Given the description of an element on the screen output the (x, y) to click on. 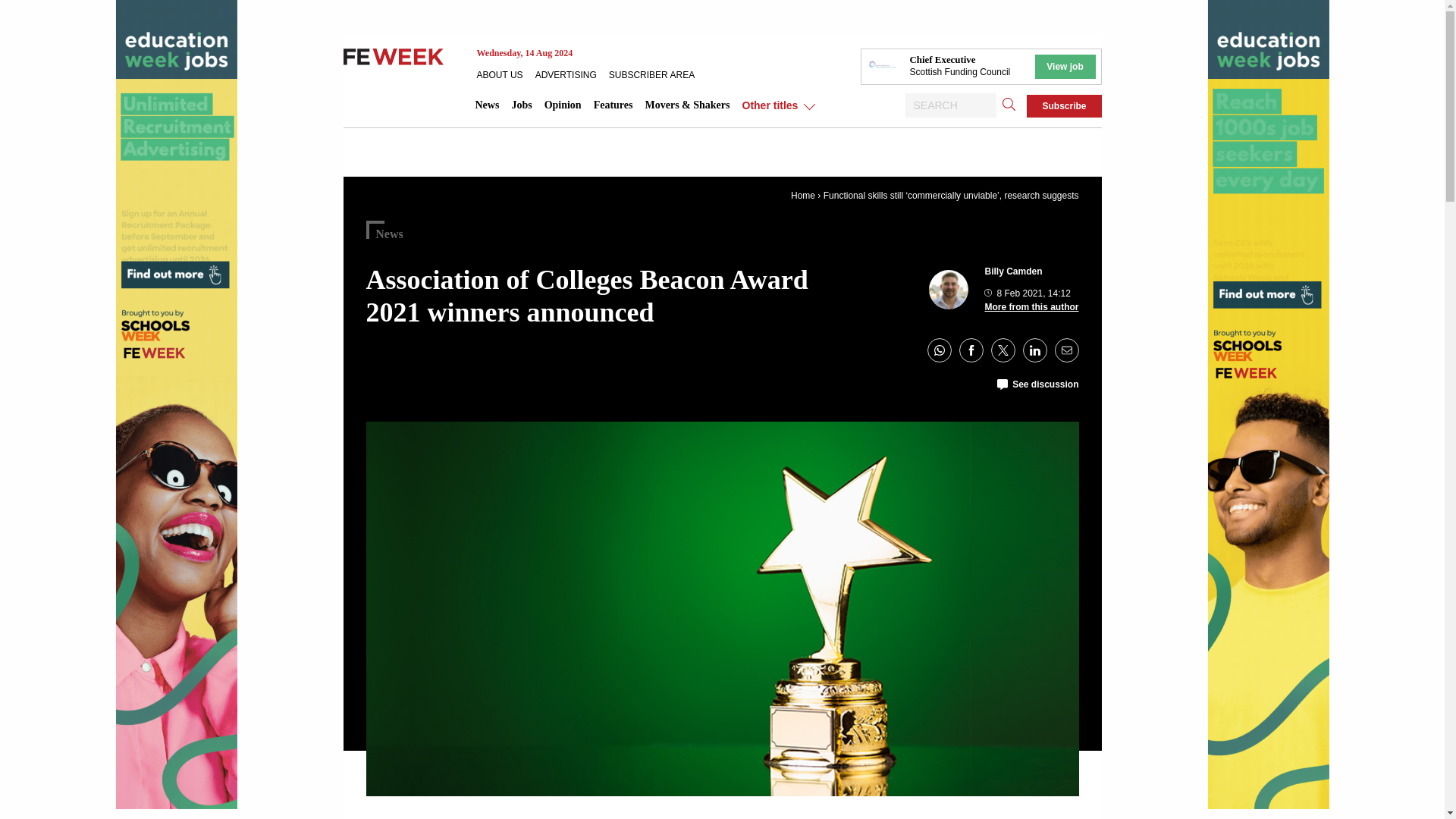
View job (1063, 66)
Posts by Billy Camden (1013, 271)
ABOUT US (505, 74)
ADVERTISING (571, 74)
SUBSCRIBER AREA (657, 74)
Home (802, 195)
